Given the description of an element on the screen output the (x, y) to click on. 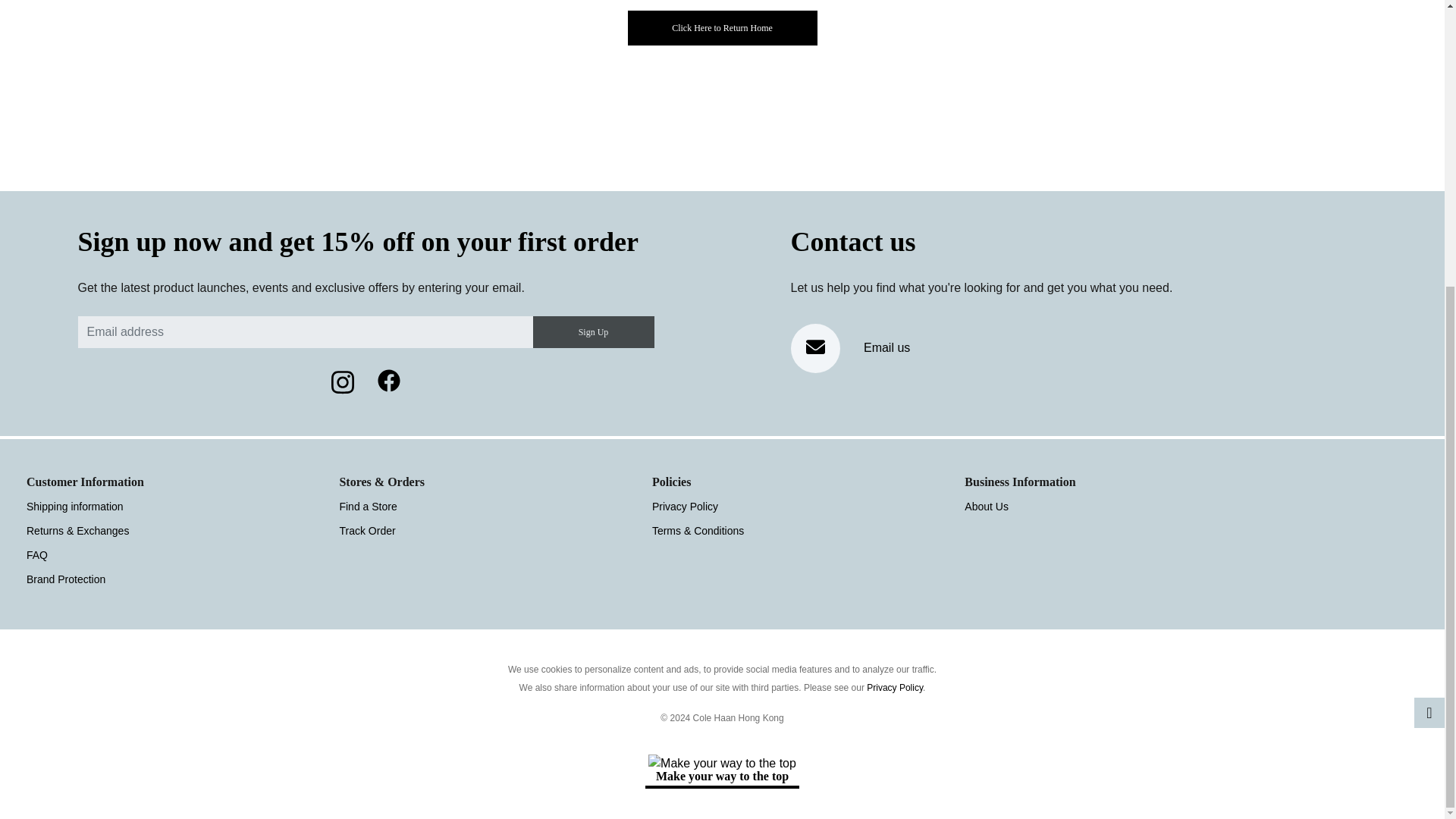
About us (986, 506)
Brand Protection (65, 579)
Privacy Policy (684, 506)
Find a Store (367, 506)
FAQ (37, 554)
Track Order (366, 530)
Shipping information (74, 506)
Email Sign Up (592, 332)
